Given the description of an element on the screen output the (x, y) to click on. 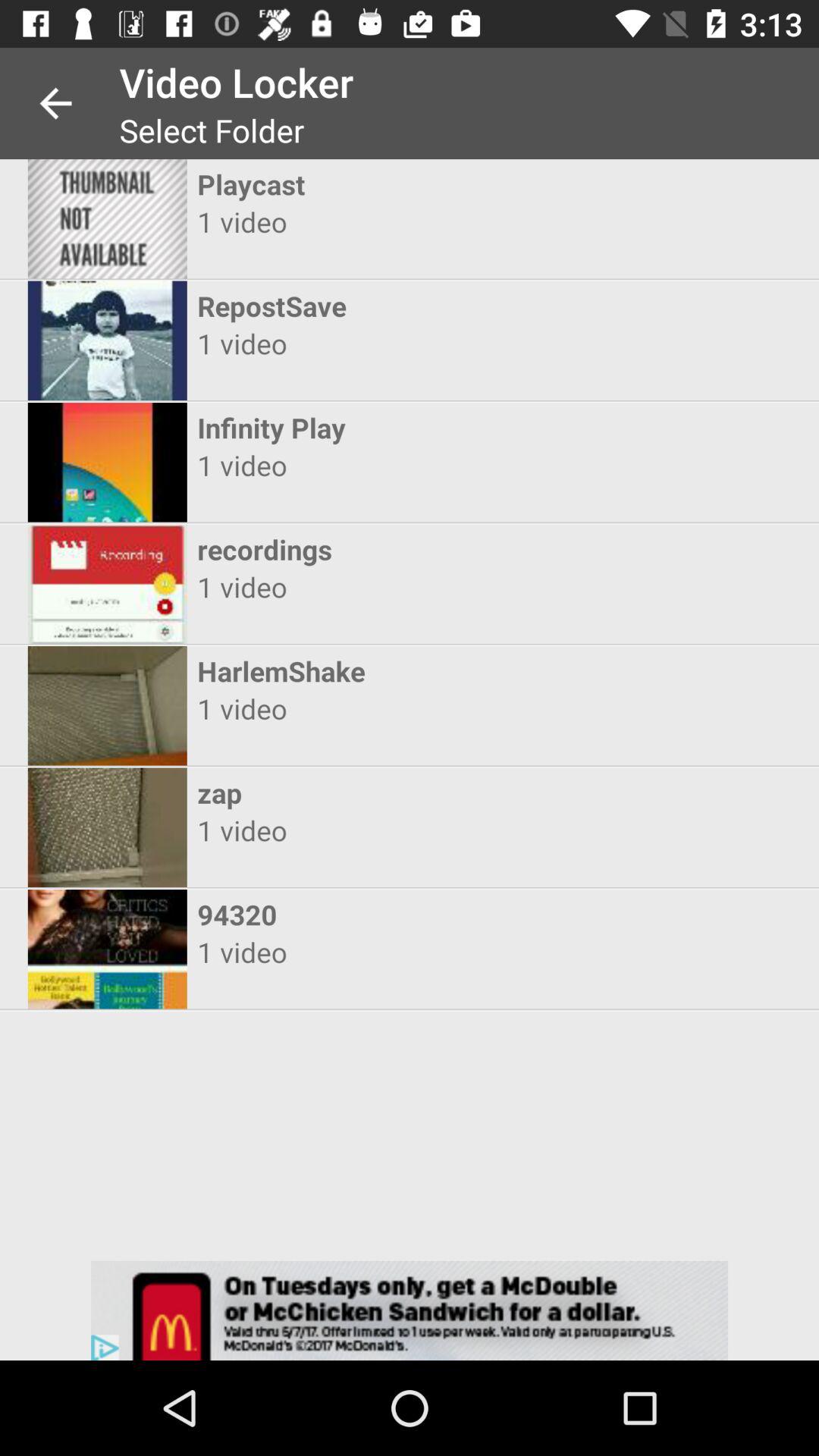
just an add space (409, 1310)
